Given the description of an element on the screen output the (x, y) to click on. 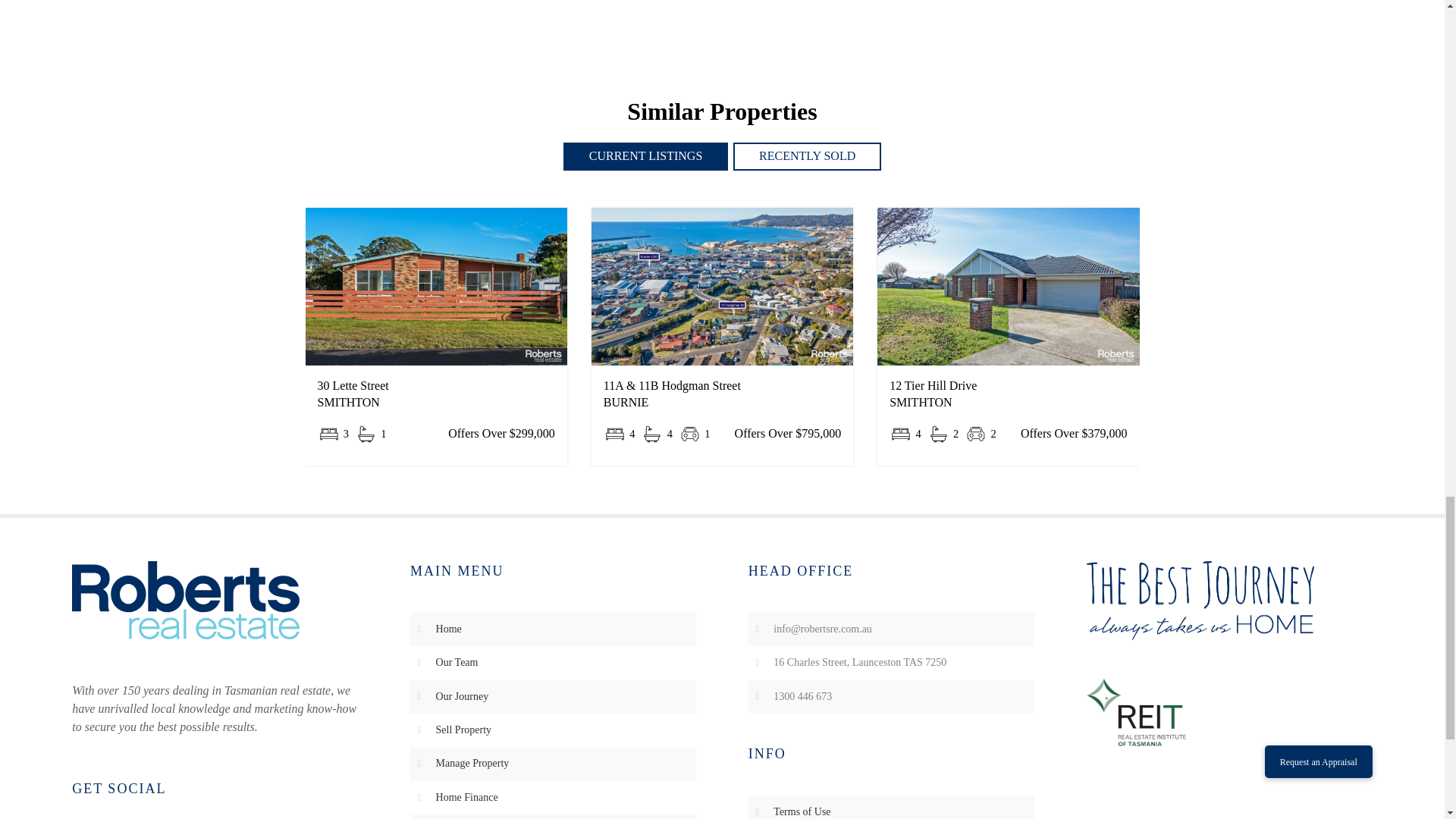
image001-4 (1135, 712)
Asset 1 (185, 600)
The Best Journey Always Takes Us Home (1199, 600)
